Given the description of an element on the screen output the (x, y) to click on. 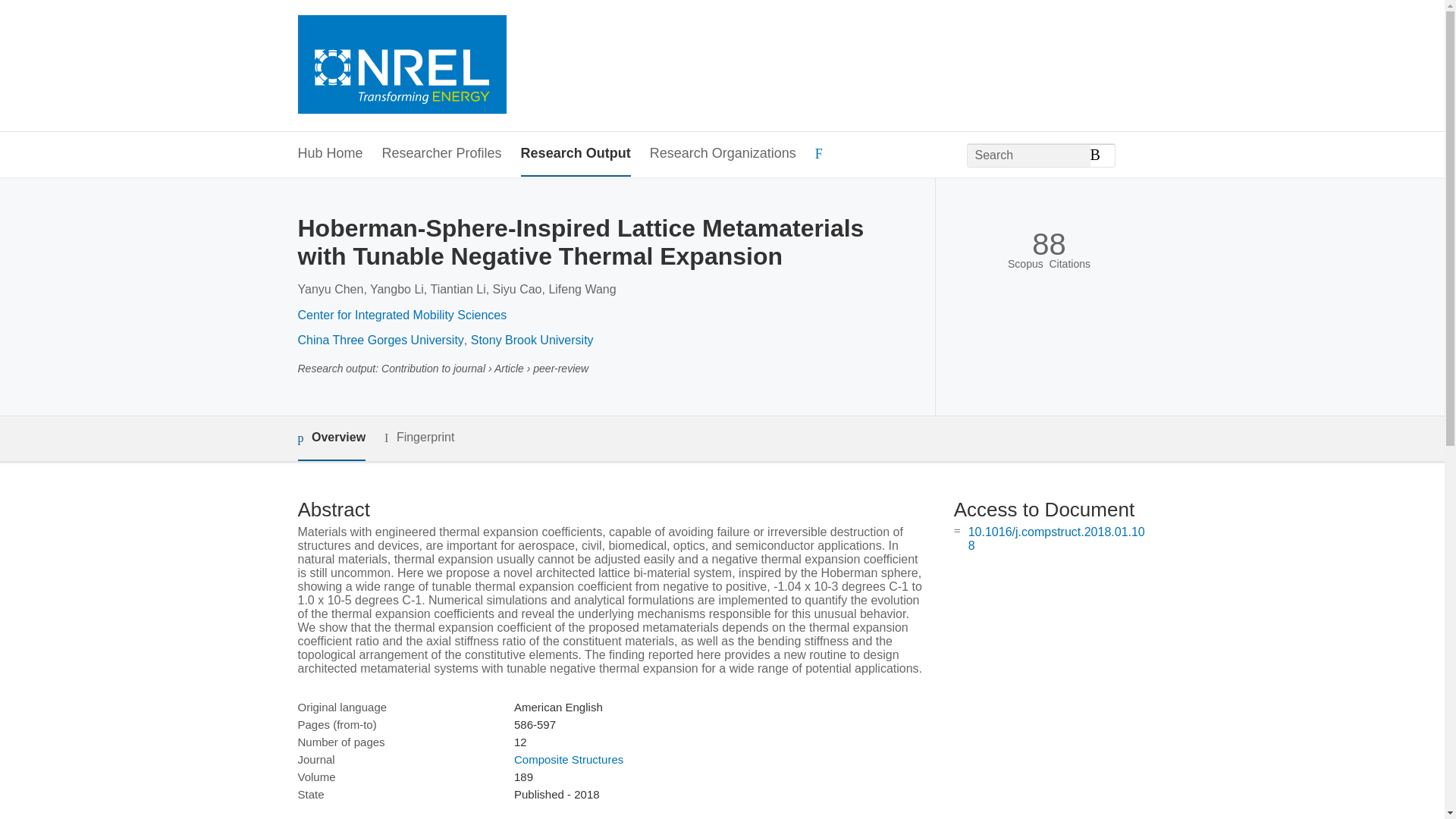
Center for Integrated Mobility Sciences (401, 314)
Stony Brook University (532, 339)
Research Organizations (722, 153)
Composite Structures (568, 758)
Hub Home (329, 153)
Researcher Profiles (441, 153)
Fingerprint (419, 437)
Overview (331, 438)
China Three Gorges University (380, 339)
National Renewable Energy Laboratory Hub Home (401, 66)
Research Output (575, 153)
